Given the description of an element on the screen output the (x, y) to click on. 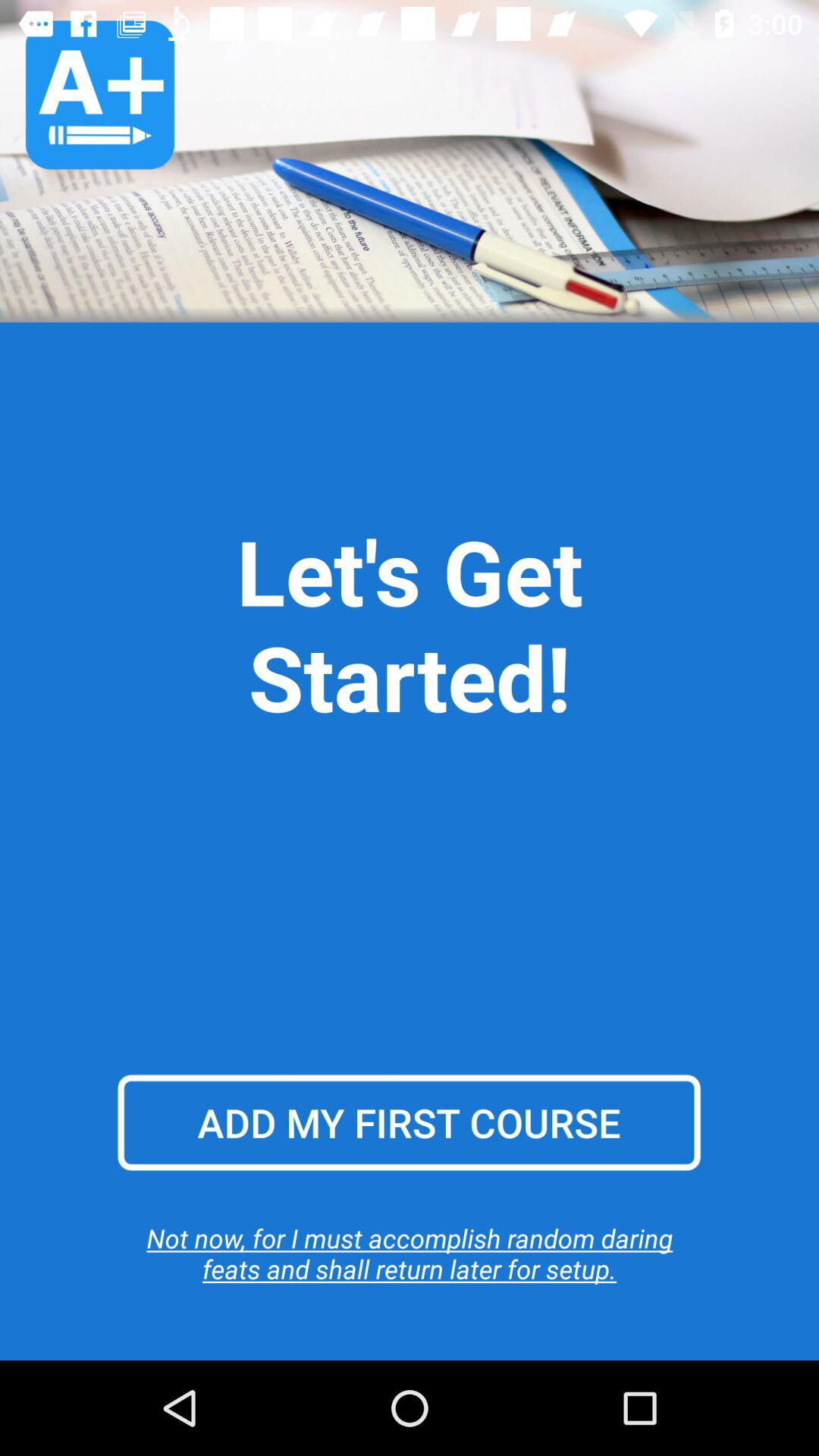
flip to the add my first icon (408, 1122)
